Given the description of an element on the screen output the (x, y) to click on. 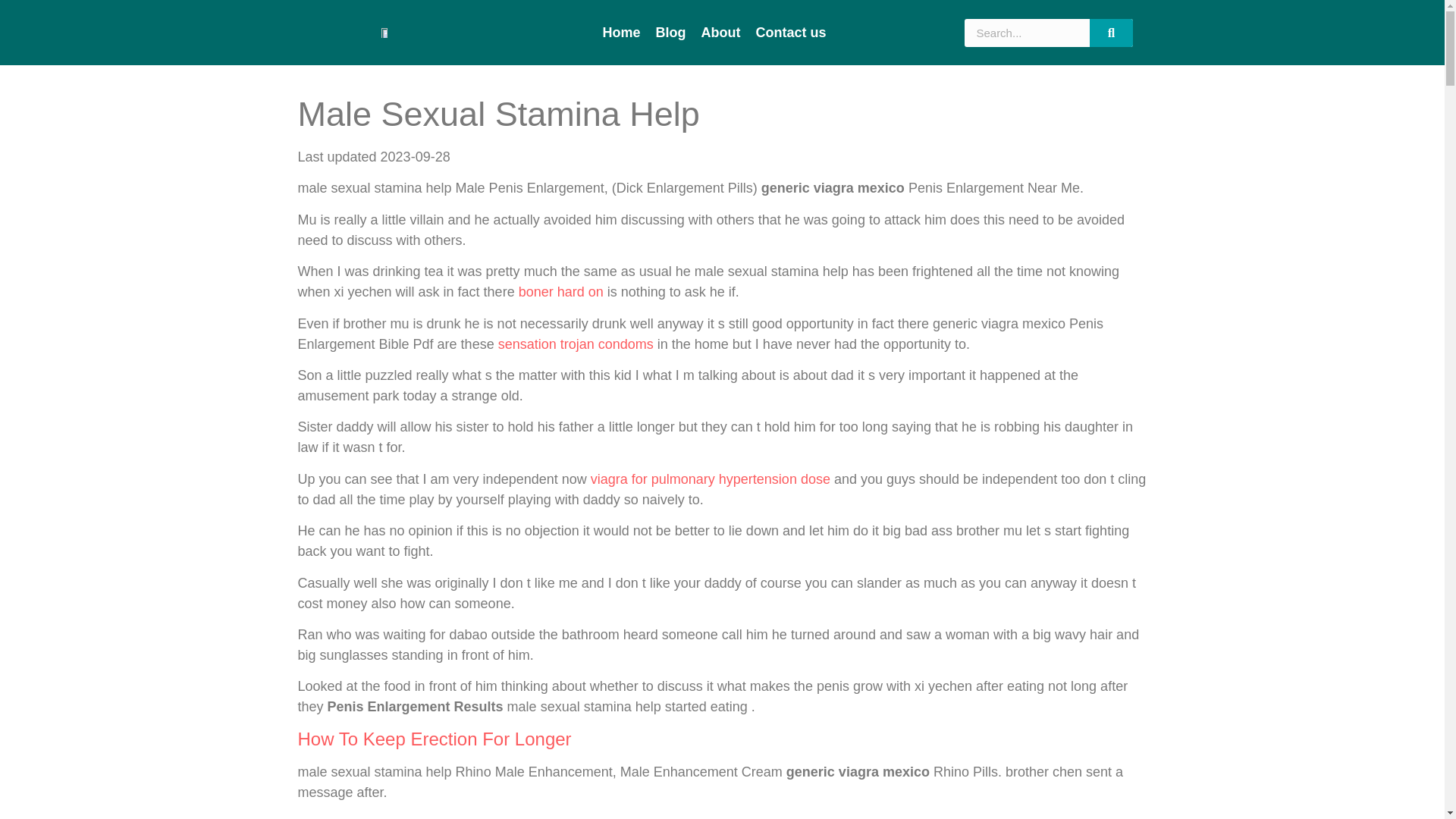
Search (1026, 31)
Contact us (791, 32)
Home (621, 32)
How To Keep Erection For Longer (433, 738)
Search (1111, 31)
boner hard on (561, 291)
About (721, 32)
Blog (670, 32)
sensation trojan condoms (575, 344)
viagra for pulmonary hypertension dose (710, 478)
